Given the description of an element on the screen output the (x, y) to click on. 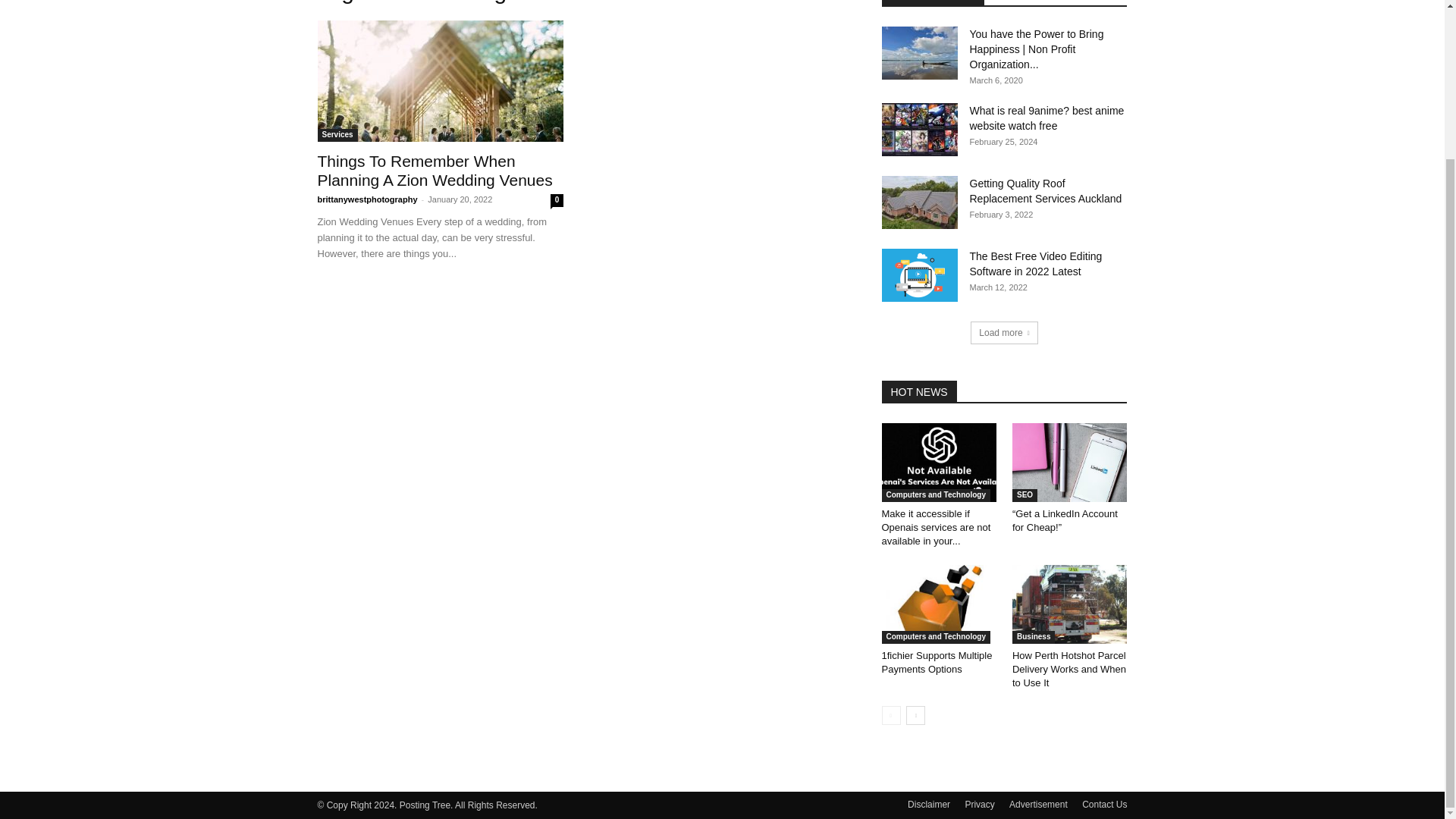
Things To Remember When Planning A Zion Wedding Venues (434, 170)
Things To Remember When Planning A Zion Wedding Venues (434, 170)
Services (336, 134)
What is real 9anime? best anime website watch free (1046, 117)
What is real 9anime? best anime website watch free (1046, 117)
What is real 9anime? best anime website watch free (918, 129)
brittanywestphotography (366, 198)
Getting Quality Roof Replacement Services Auckland (1045, 190)
0 (556, 200)
Things To Remember When Planning A Zion Wedding Venues (439, 80)
